Given the description of an element on the screen output the (x, y) to click on. 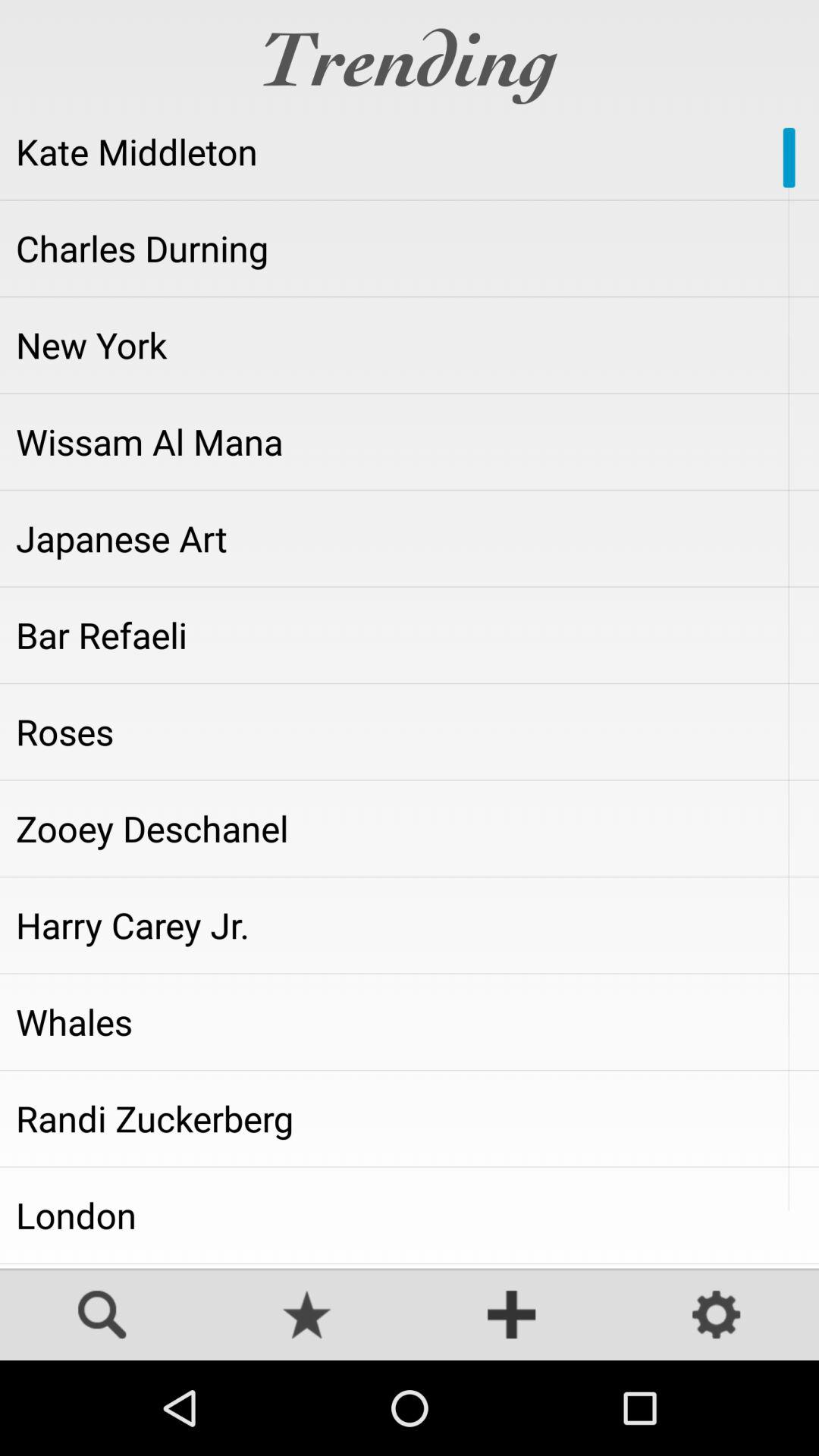
turn on app below zooey deschanel icon (409, 925)
